Given the description of an element on the screen output the (x, y) to click on. 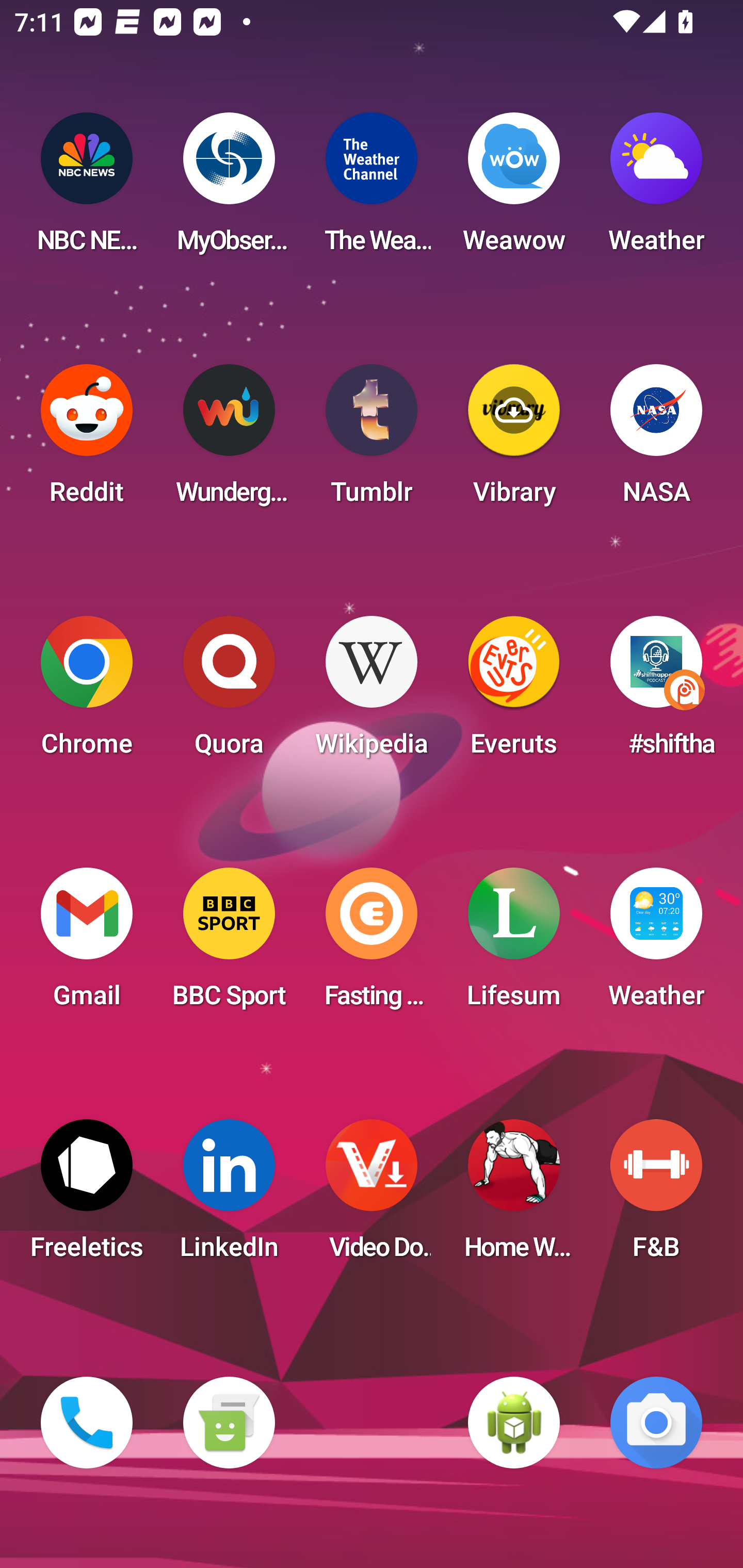
NBC NEWS (86, 188)
MyObservatory (228, 188)
The Weather Channel (371, 188)
Weawow (513, 188)
Weather (656, 188)
Reddit (86, 440)
Wunderground (228, 440)
Tumblr (371, 440)
Vibrary (513, 440)
NASA (656, 440)
Chrome (86, 692)
Quora (228, 692)
Wikipedia (371, 692)
Everuts (513, 692)
#shifthappens in the Digital Workplace Podcast (656, 692)
Gmail (86, 943)
BBC Sport (228, 943)
Fasting Coach (371, 943)
Lifesum (513, 943)
Weather (656, 943)
Freeletics (86, 1195)
LinkedIn (228, 1195)
Video Downloader & Ace Player (371, 1195)
Home Workout (513, 1195)
F&B (656, 1195)
Phone (86, 1422)
Messaging (228, 1422)
WebView Browser Tester (513, 1422)
Camera (656, 1422)
